Given the description of an element on the screen output the (x, y) to click on. 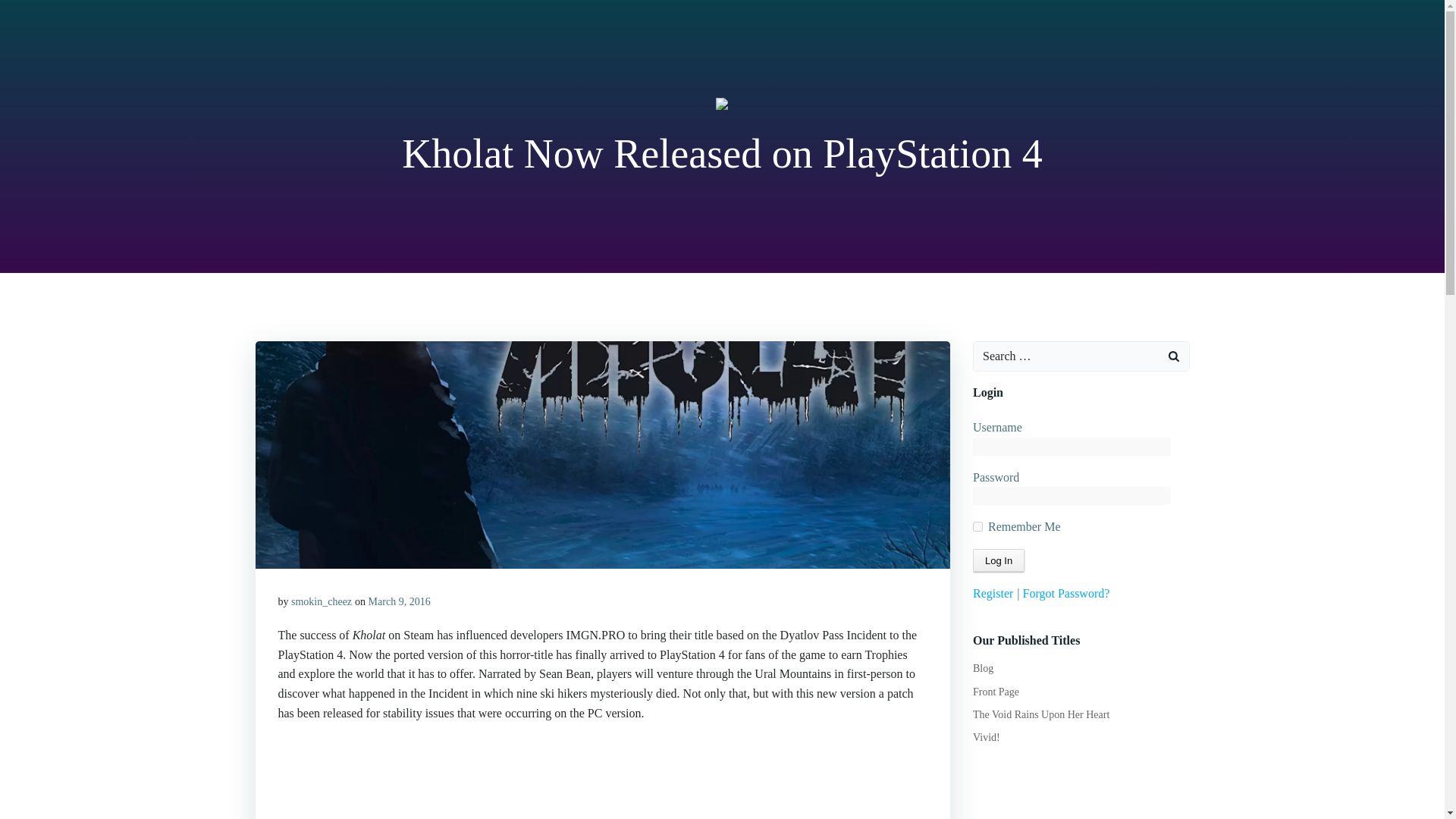
March 9, 2016 (399, 601)
forever (977, 526)
Front Page (995, 691)
The Void Rains Upon Her Heart (1040, 714)
Forgot Password? (1066, 593)
Log In (998, 559)
Blog (982, 668)
Forgot Password (1066, 593)
Register (992, 593)
Search  (29, 14)
